Given the description of an element on the screen output the (x, y) to click on. 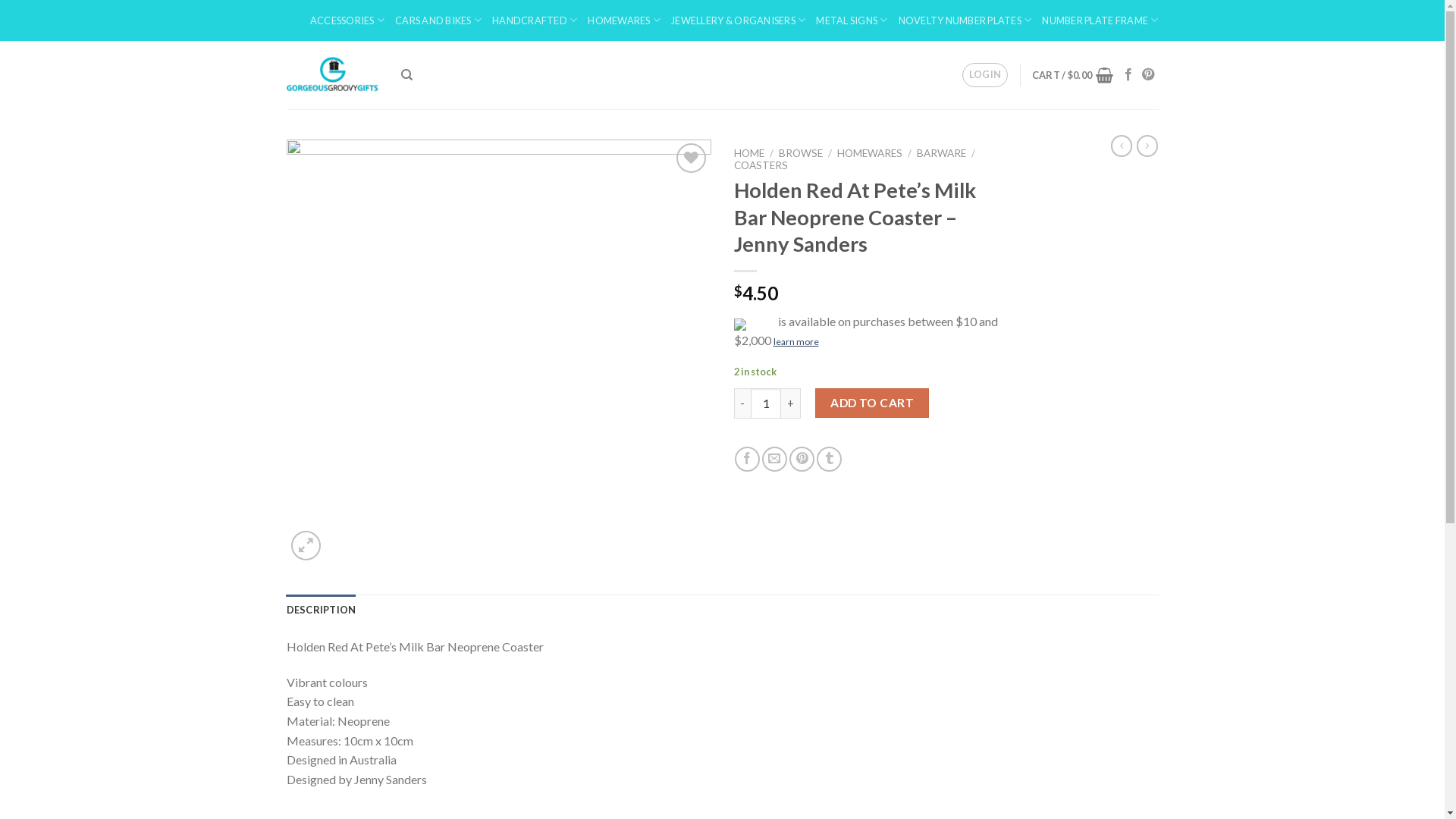
HANDCRAFTED Element type: text (534, 20)
DESCRIPTION Element type: text (321, 609)
HOMEWARES Element type: text (623, 20)
Share on Facebook Element type: hover (746, 458)
learn more Element type: text (796, 341)
LOGIN Element type: text (984, 74)
CART / $0.00 Element type: text (1072, 74)
NOVELTY NUMBER PLATES Element type: text (965, 20)
ACCESSORIES Element type: text (347, 20)
Share on Tumblr Element type: hover (828, 458)
BROWSE Element type: text (800, 153)
Follow on Pinterest Element type: hover (1148, 74)
Pin on Pinterest Element type: hover (801, 458)
Email to a Friend Element type: hover (774, 458)
BARWARE Element type: text (941, 153)
Follow on Facebook Element type: hover (1128, 74)
Zoom Element type: hover (305, 545)
METAL SIGNS Element type: text (851, 20)
JEWELLERY & ORGANISERS Element type: text (738, 20)
COASTERS Element type: text (760, 165)
ADD TO CART Element type: text (871, 402)
HOMEWARES Element type: text (869, 153)
HOME Element type: text (749, 153)
NUMBER PLATE FRAME Element type: text (1099, 20)
CARS AND BIKES Element type: text (438, 20)
